Given the description of an element on the screen output the (x, y) to click on. 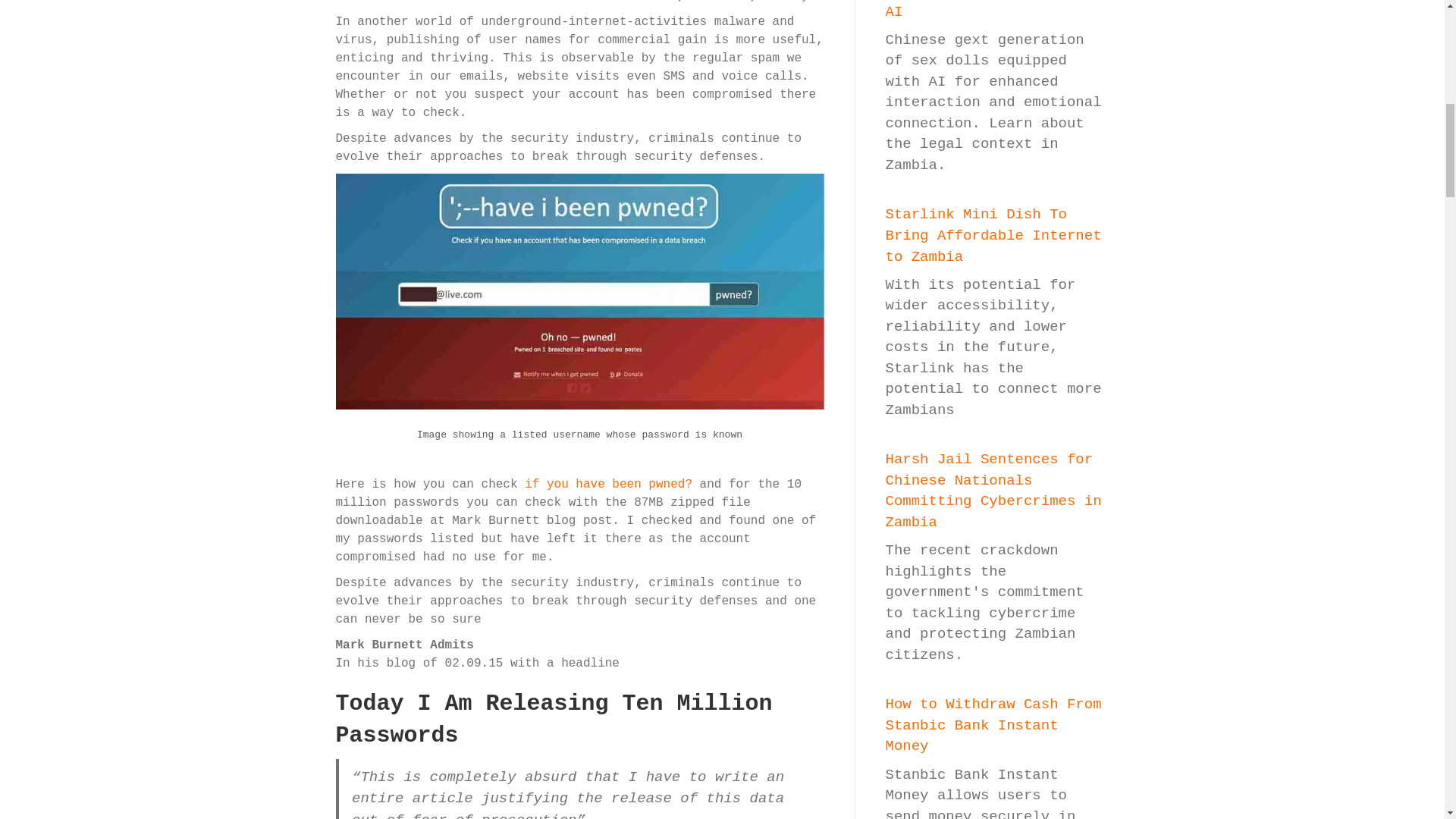
10 Million Passwords and Usernames Published Online 2 (579, 291)
if you have been pwned? (608, 484)
Today I Am Releasing Ten Million Passwords (552, 719)
